Given the description of an element on the screen output the (x, y) to click on. 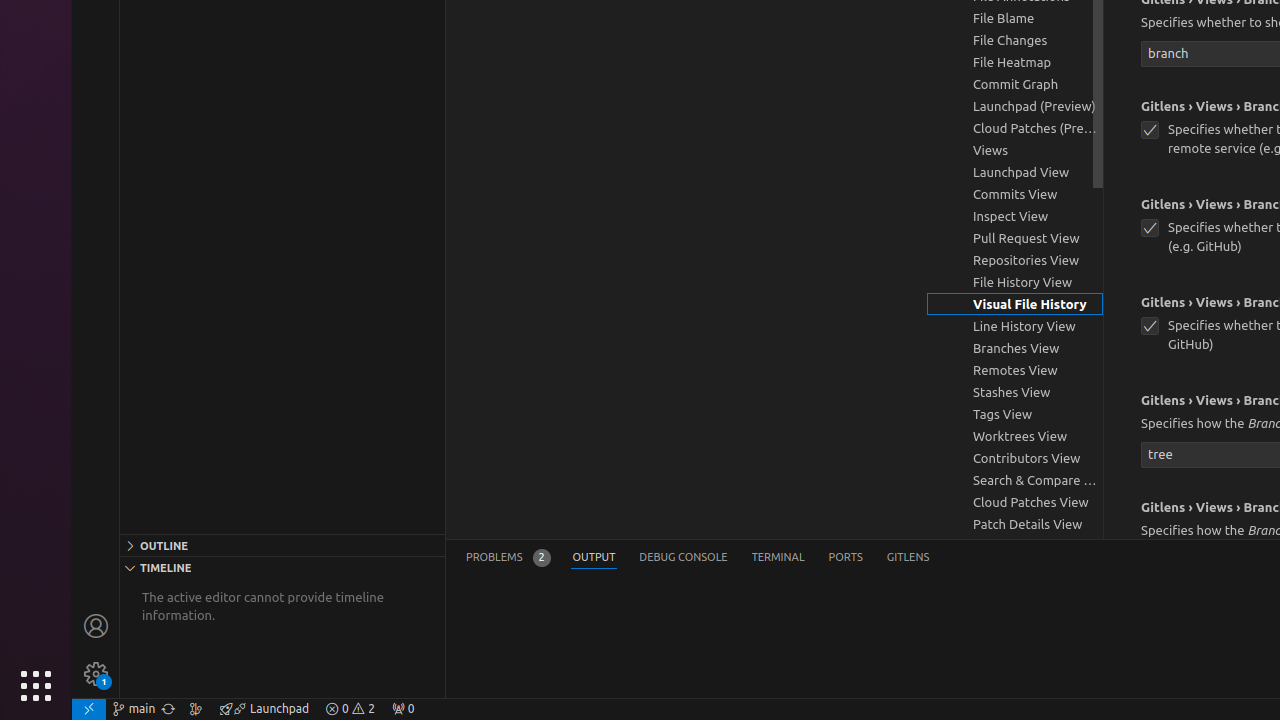
Debug Console (Ctrl+Shift+Y) Element type: page-tab (683, 557)
rocket gitlens-unplug Launchpad, GitLens Launchpad ᴘʀᴇᴠɪᴇᴡ    &mdash;    [$(question)](command:gitlens.launchpad.indicator.action?%22info%22 "What is this?") [$(gear)](command:workbench.action.openSettings?%22gitlens.launchpad%22 "Settings")  |  [$(circle-slash) Hide](command:gitlens.launchpad.indicator.action?%22hide%22 "Hide") --- [Launchpad](command:gitlens.launchpad.indicator.action?%info%22 "Learn about Launchpad") organizes your pull requests into actionable groups to help you focus and keep your team unblocked. It's always accessible using the `GitLens: Open Launchpad` command from the Command Palette. --- [Connect an integration](command:gitlens.showLaunchpad?%7B%22source%22%3A%22launchpad-indicator%22%7D "Connect an integration") to get started. Element type: push-button (264, 709)
Stashes View, group Element type: tree-item (1015, 392)
File Changes, group Element type: tree-item (1015, 40)
Ports Element type: page-tab (845, 557)
